Given the description of an element on the screen output the (x, y) to click on. 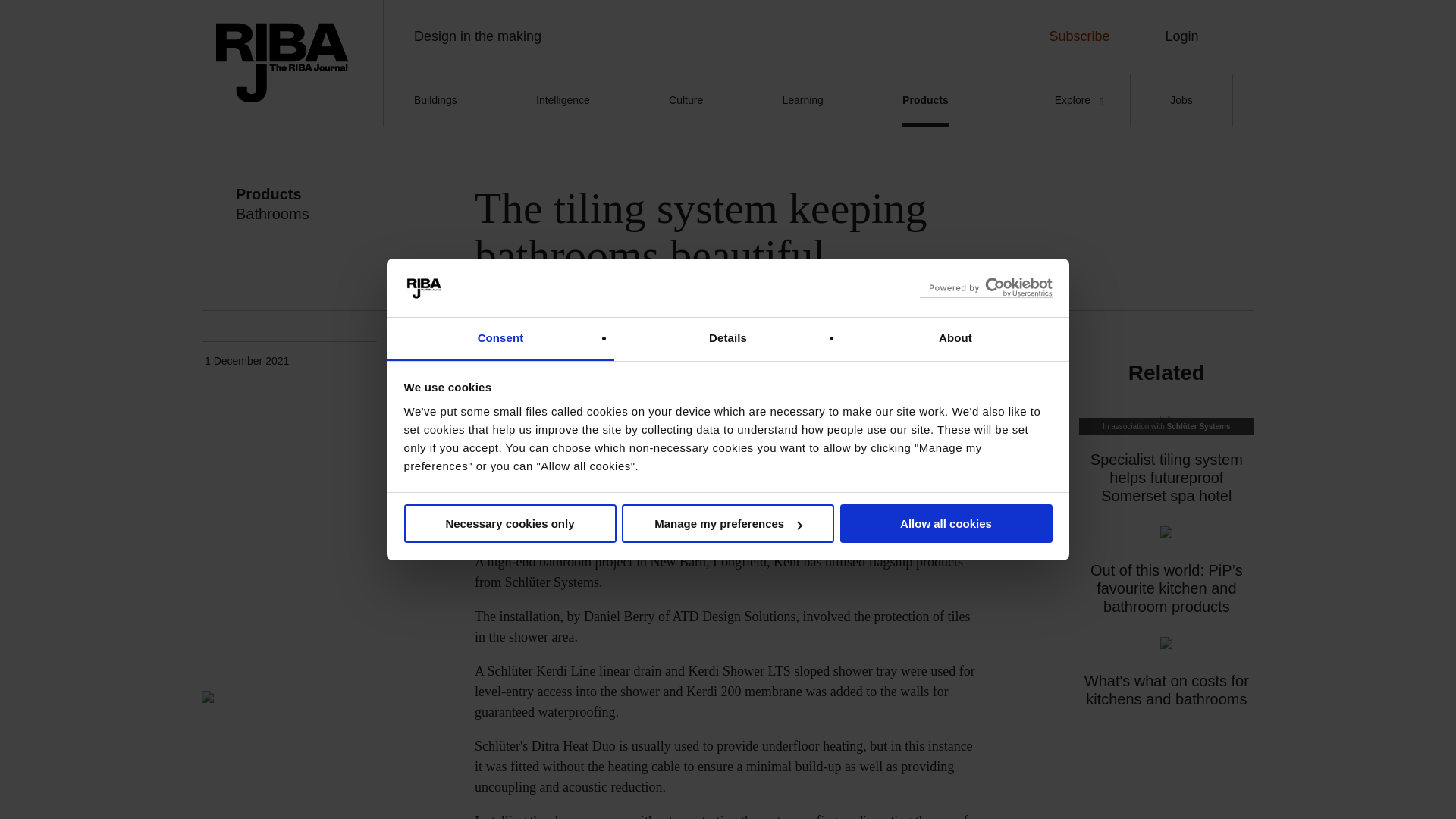
Consent (500, 339)
About (954, 339)
Details (727, 339)
